Given the description of an element on the screen output the (x, y) to click on. 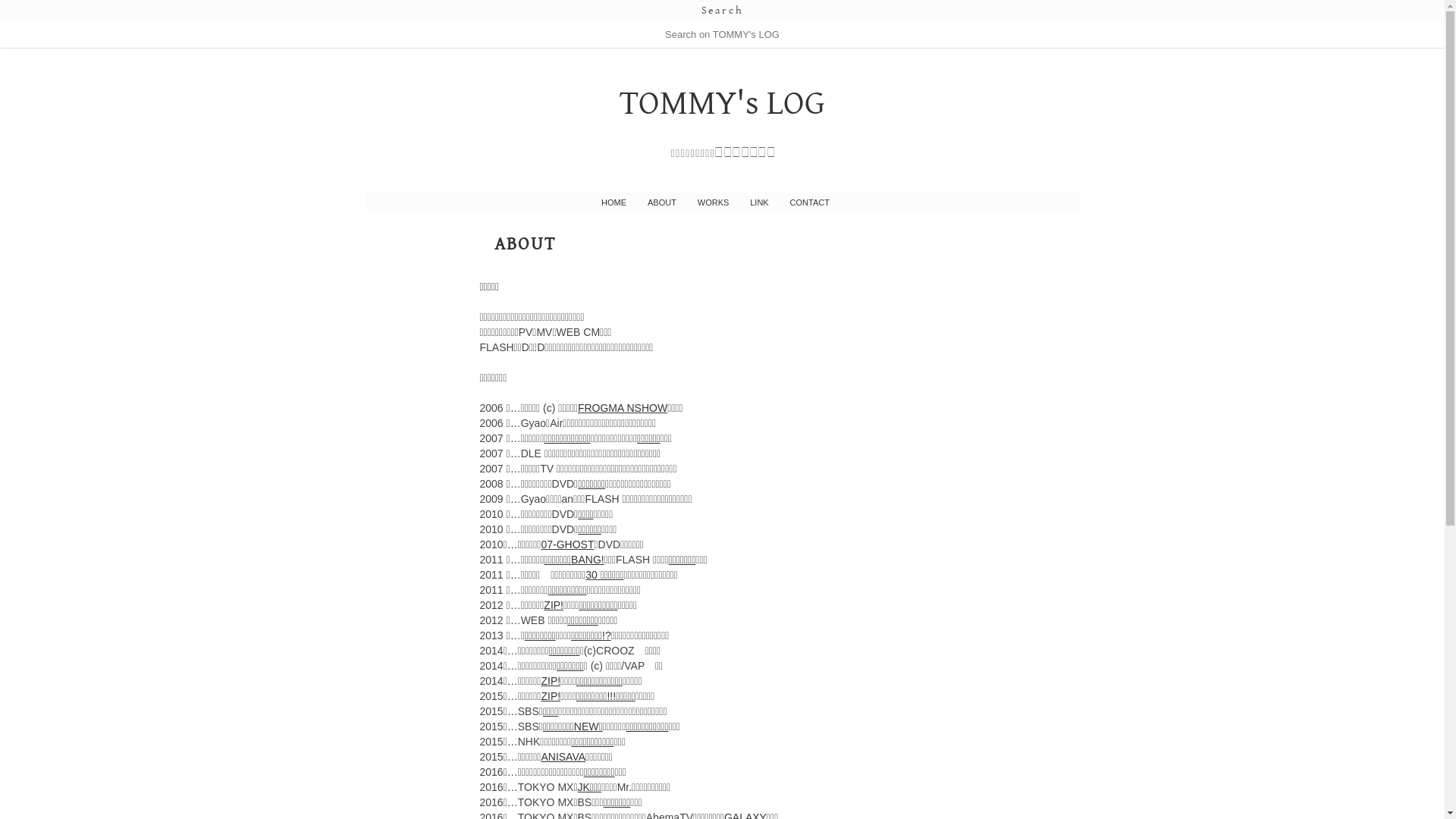
HOME Element type: text (613, 202)
ANISAVA Element type: text (562, 756)
CONTACT Element type: text (809, 202)
ZIP! Element type: text (553, 605)
ZIP! Element type: text (550, 696)
WORKS Element type: text (713, 202)
LINK Element type: text (758, 202)
TOMMY's LOG Element type: text (722, 103)
ZIP! Element type: text (550, 680)
ABOUT Element type: text (525, 243)
FROGMA NSHOW Element type: text (622, 407)
ABOUT Element type: text (661, 202)
07-GHOST Element type: text (566, 544)
